Given the description of an element on the screen output the (x, y) to click on. 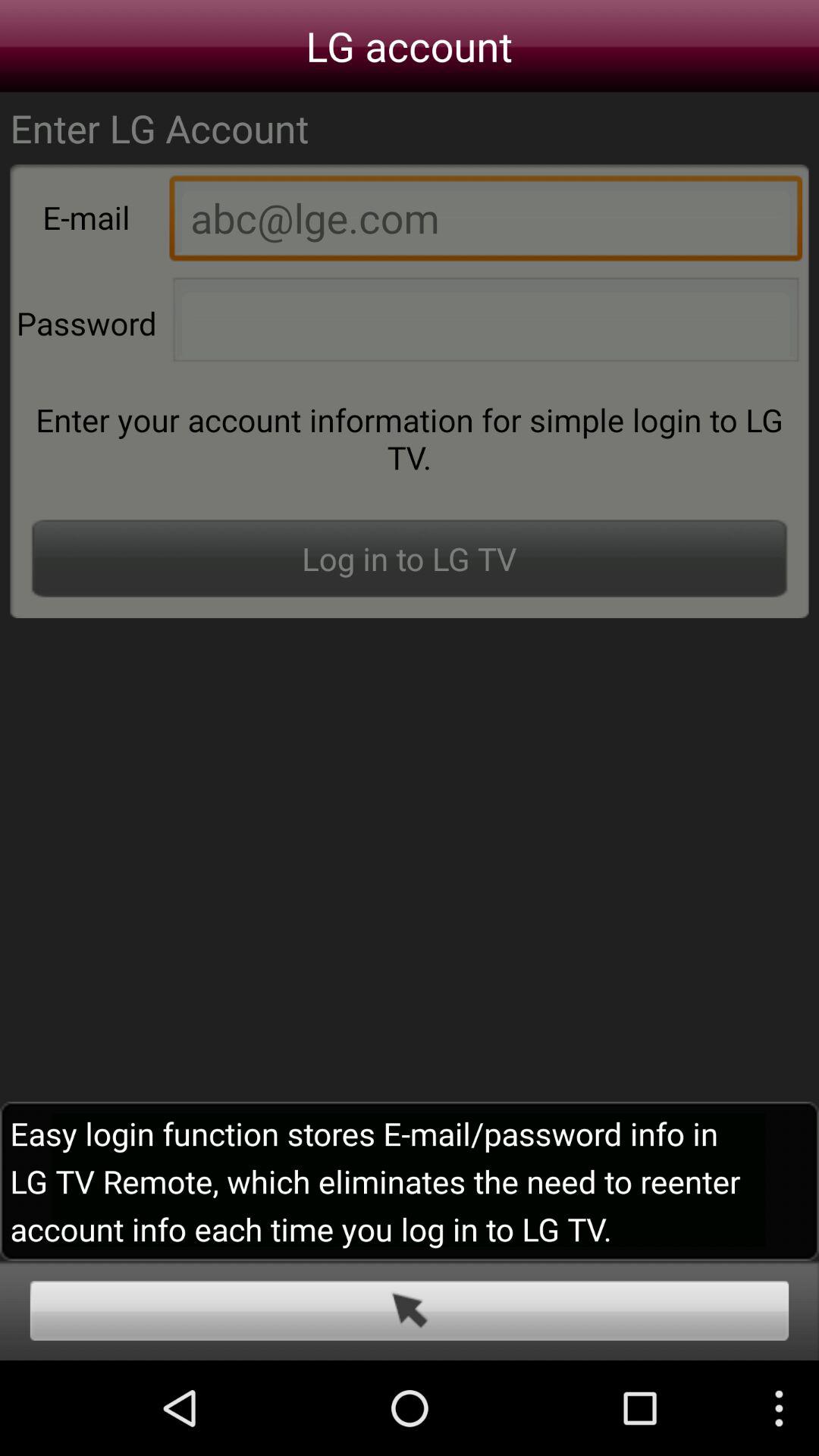
type in passward (485, 323)
